Given the description of an element on the screen output the (x, y) to click on. 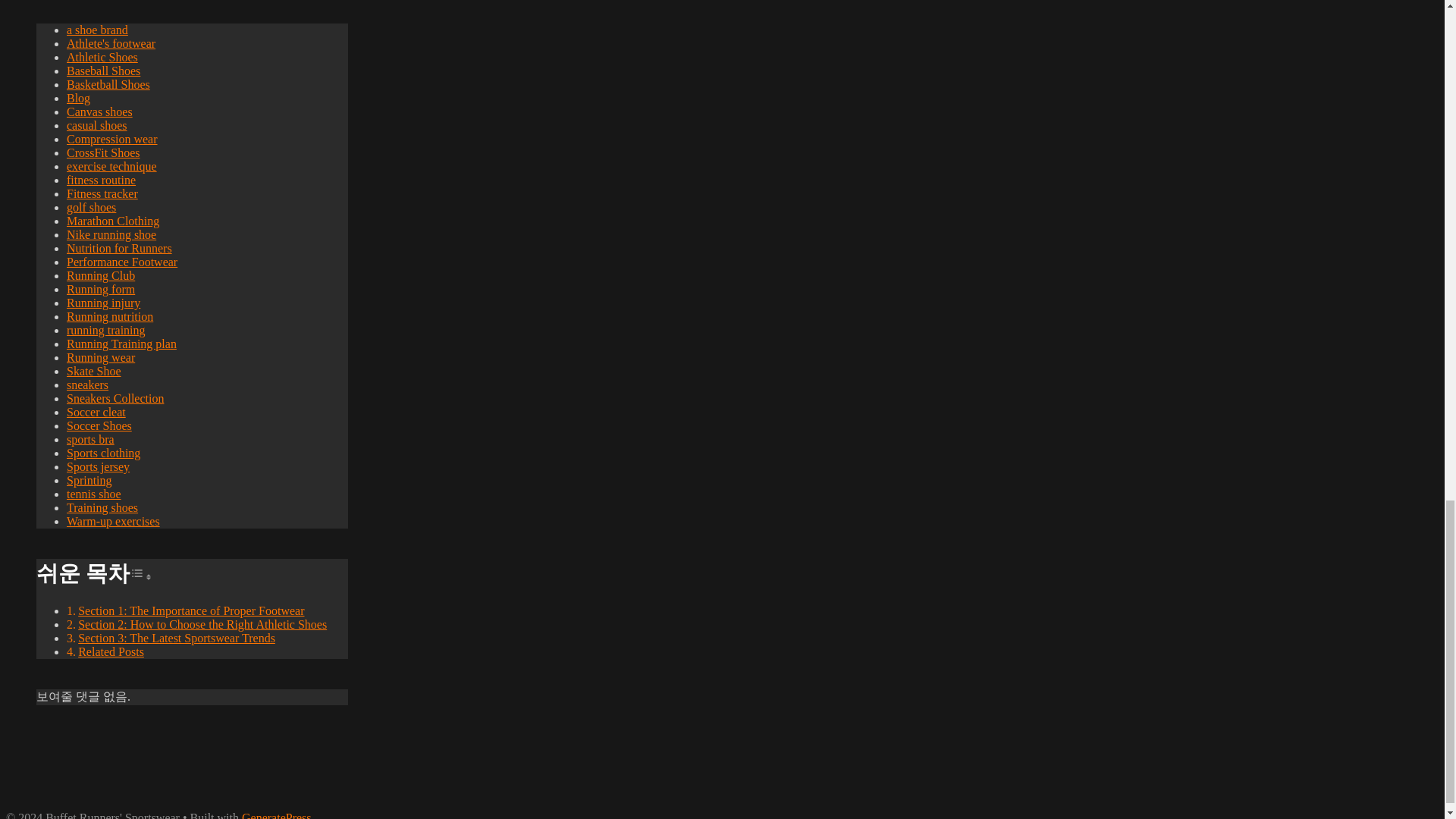
golf shoes (91, 206)
Running Club (100, 275)
Basketball Shoes (107, 83)
Scroll back to top (1406, 216)
Section 1: The Importance of Proper Footwear (191, 610)
Section 2: How to Choose the Right Athletic Shoes (202, 624)
Blog (78, 97)
exercise technique (111, 165)
Canvas shoes (99, 111)
Compression wear (111, 138)
Athletic Shoes (102, 56)
CrossFit Shoes (102, 152)
Related Posts (111, 651)
Marathon Clothing (112, 220)
fitness routine (100, 179)
